Given the description of an element on the screen output the (x, y) to click on. 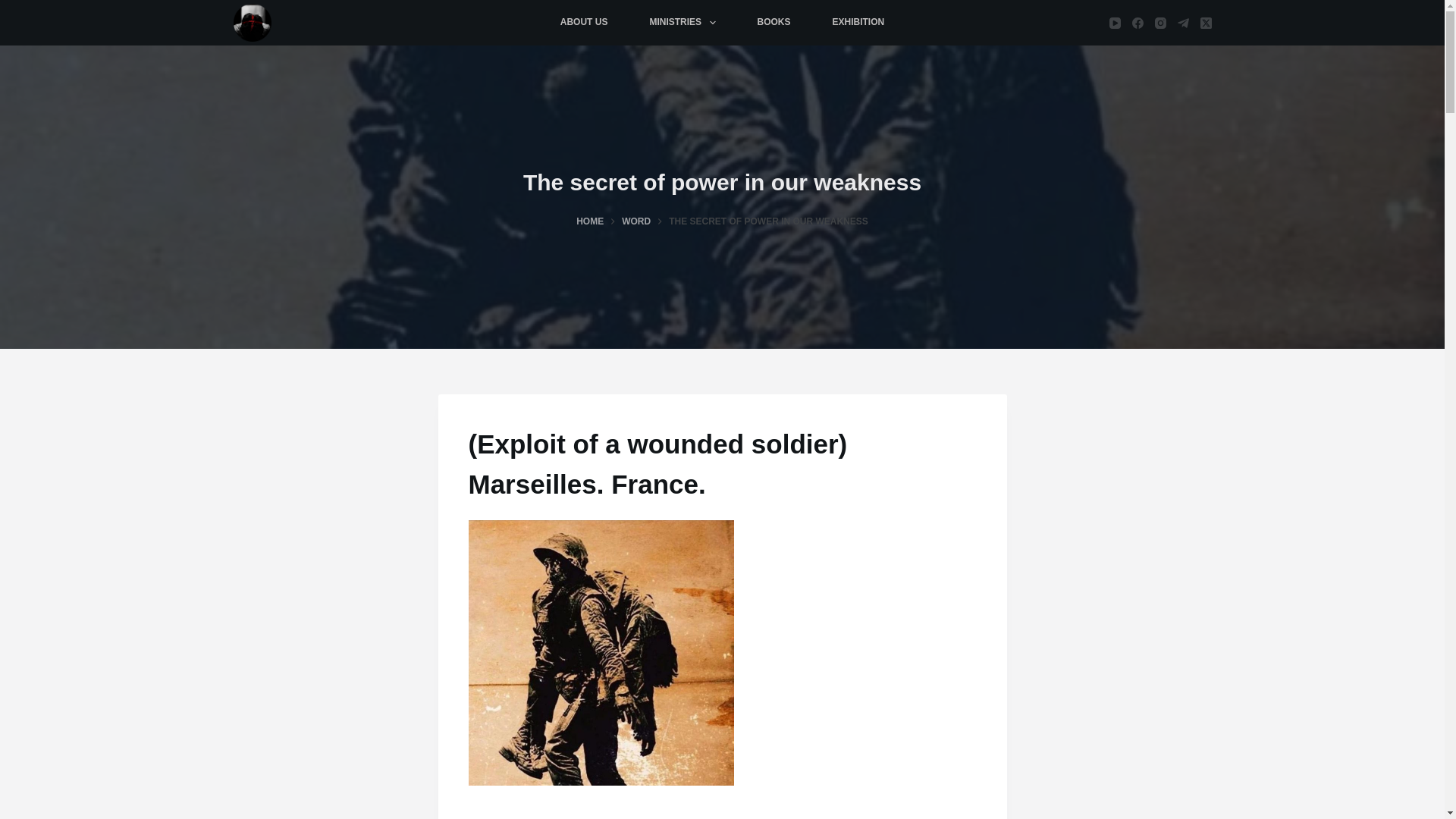
MINISTRIES (682, 22)
BOOKS (773, 22)
Skip to content (15, 7)
EXHIBITION (857, 22)
HOME (590, 222)
WORD (635, 222)
The secret of power in our weakness (722, 182)
ABOUT US (583, 22)
